Given the description of an element on the screen output the (x, y) to click on. 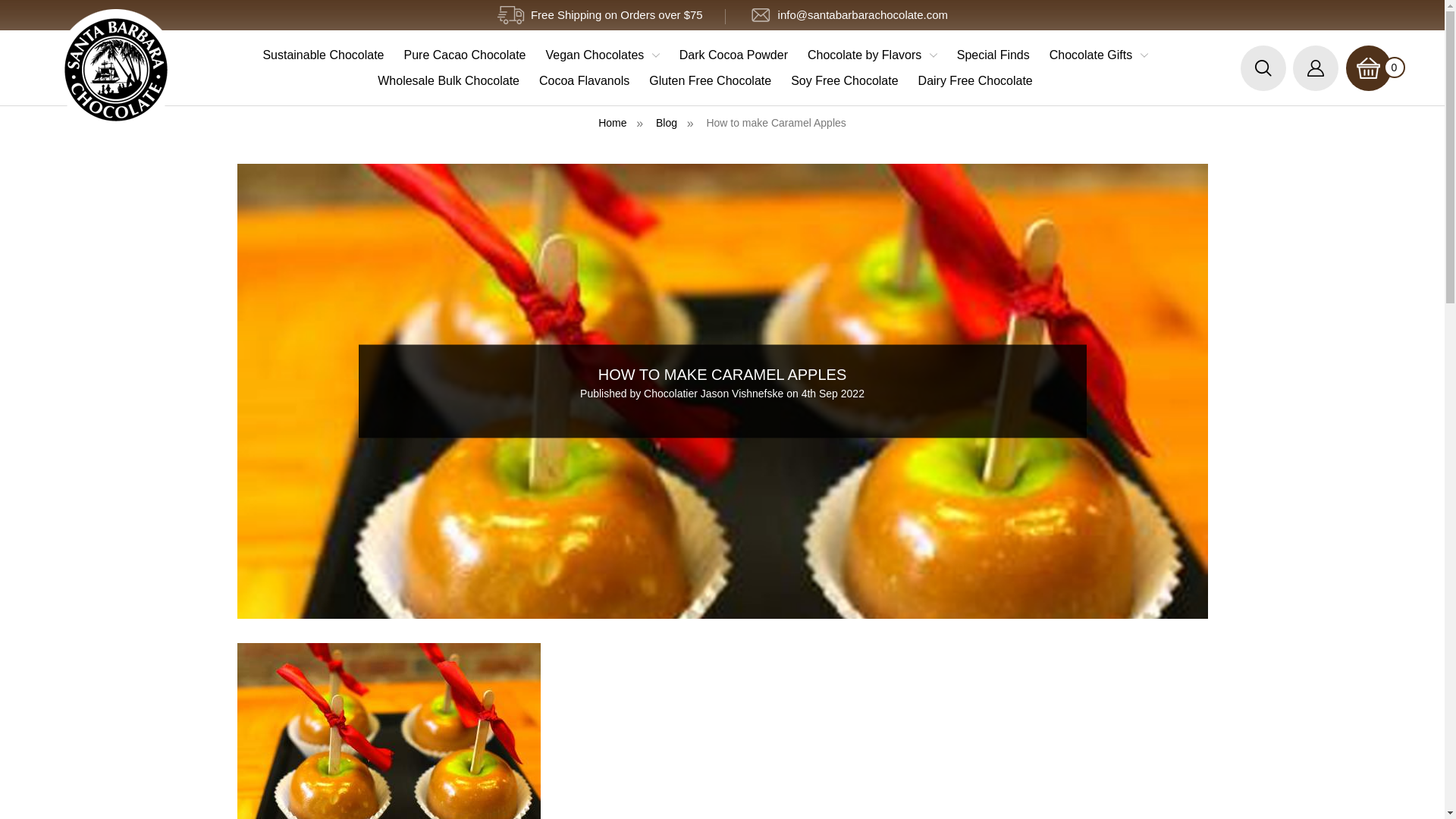
Vegan Chocolates (601, 54)
Special Finds (993, 54)
Gluten Free Chocolate (709, 80)
Cocoa Flavanols (584, 80)
Wholesale Bulk Chocolate (448, 80)
Pure Cacao Chocolate (464, 54)
Soy Free Chocolate (843, 80)
Chocolate Gifts (1098, 54)
Sustainable Chocolate (322, 54)
Chocolate by Flavors (872, 54)
Dairy Free Chocolate (975, 80)
Dark Cocoa Powder (733, 54)
